Given the description of an element on the screen output the (x, y) to click on. 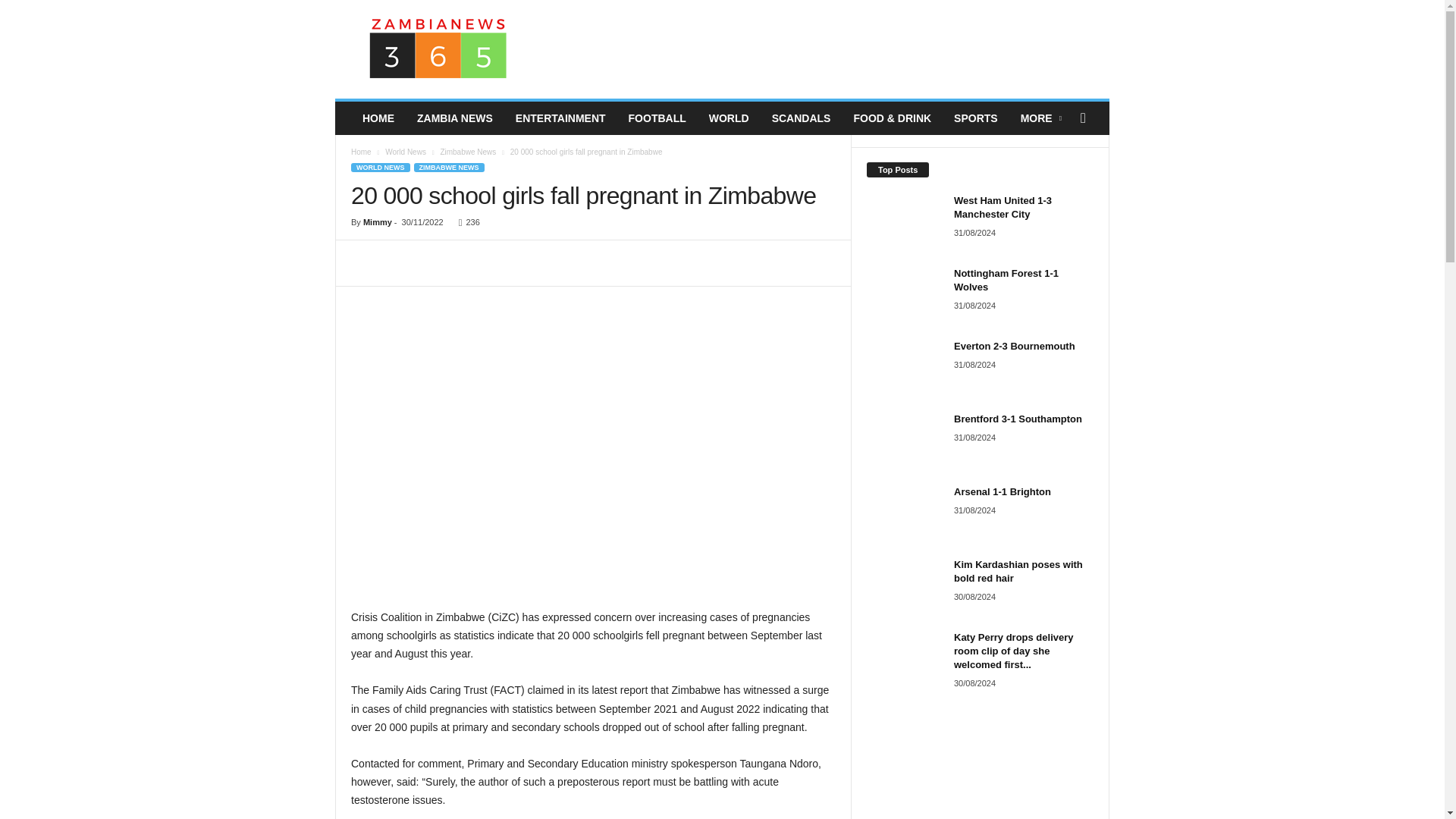
WORLD NEWS (380, 166)
SPORTS (975, 118)
ZIMBABWE NEWS (448, 166)
ZAMBIA NEWS (454, 118)
World News (405, 152)
ZambiaNews365.com (437, 48)
Home (360, 152)
View all posts in Zimbabwe News (467, 152)
WORLD (728, 118)
SCANDALS (801, 118)
